Given the description of an element on the screen output the (x, y) to click on. 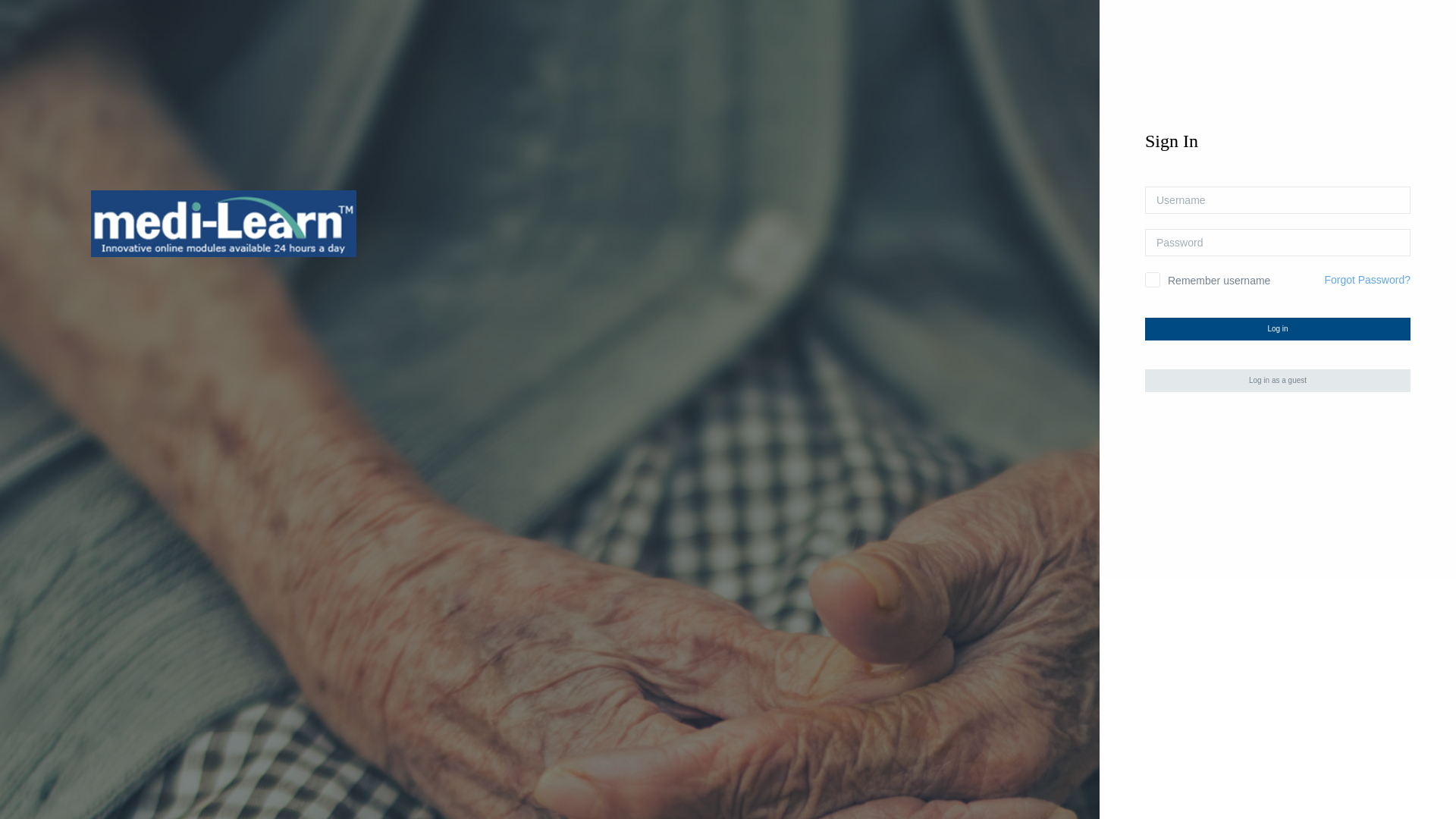
Log in as a guest Element type: text (1277, 380)
Forgot Password? Element type: text (1367, 279)
Meditrax Element type: hover (223, 223)
Skip to main content Element type: text (0, 0)
Log in Element type: text (1277, 328)
